Given the description of an element on the screen output the (x, y) to click on. 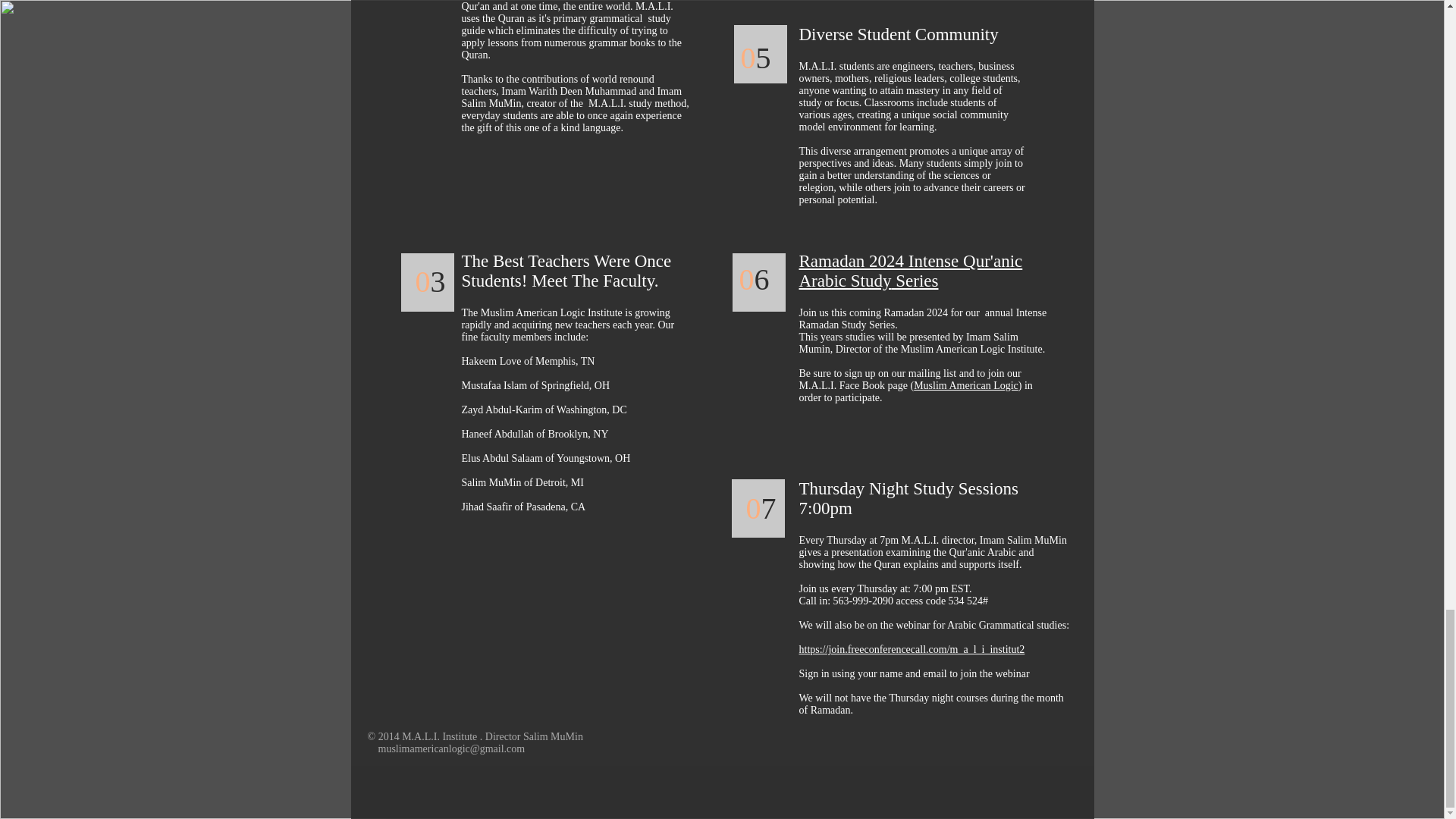
Muslim American Logic (965, 385)
Series (915, 280)
Ramadan 2024 Intense Qur'anic Arabic Study (911, 270)
